Given the description of an element on the screen output the (x, y) to click on. 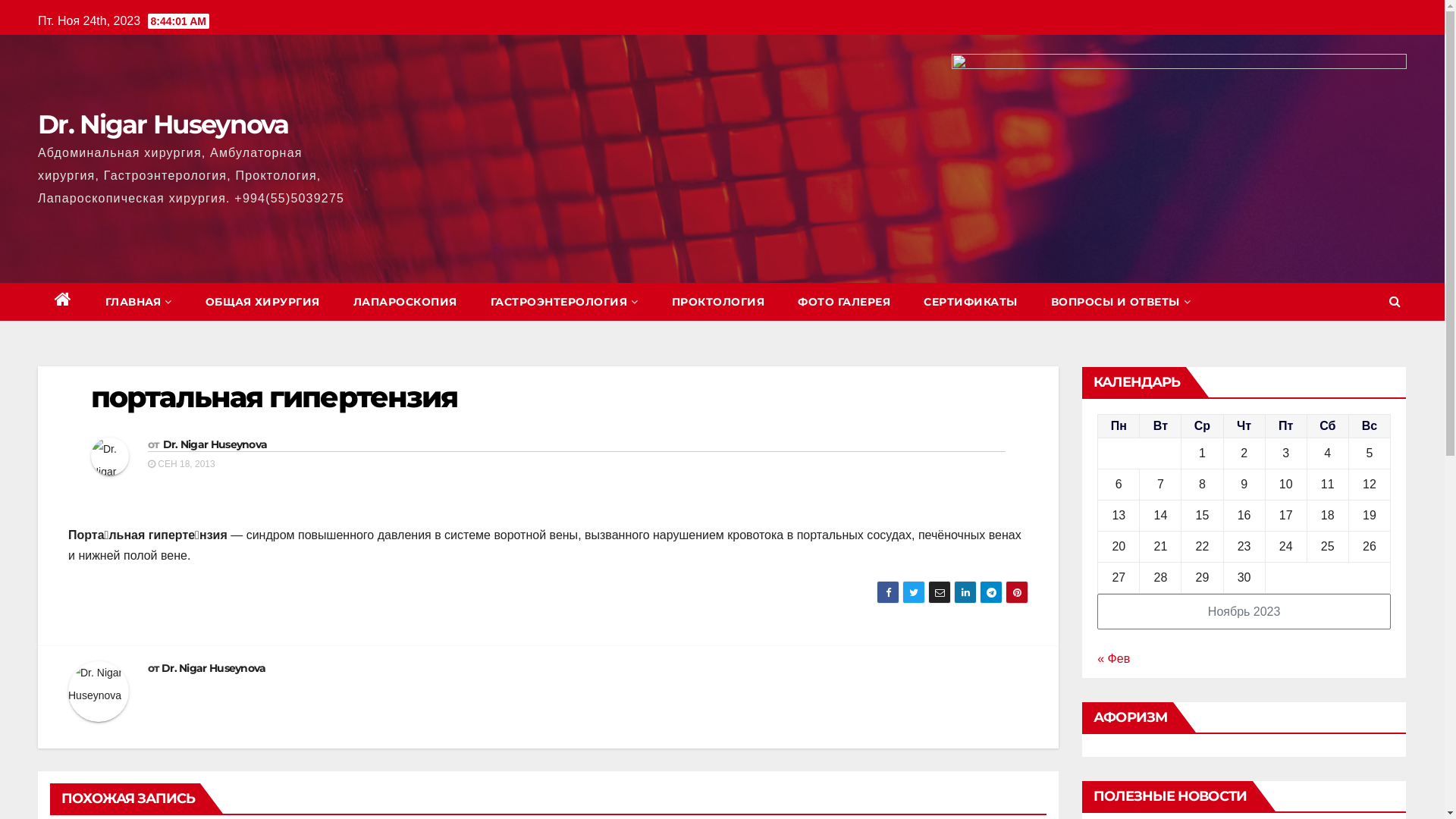
Dr. Nigar Huseynova Element type: text (213, 667)
Dr. Nigar Huseynova Element type: text (215, 444)
Dr. Nigar Huseynova Element type: text (162, 124)
